Given the description of an element on the screen output the (x, y) to click on. 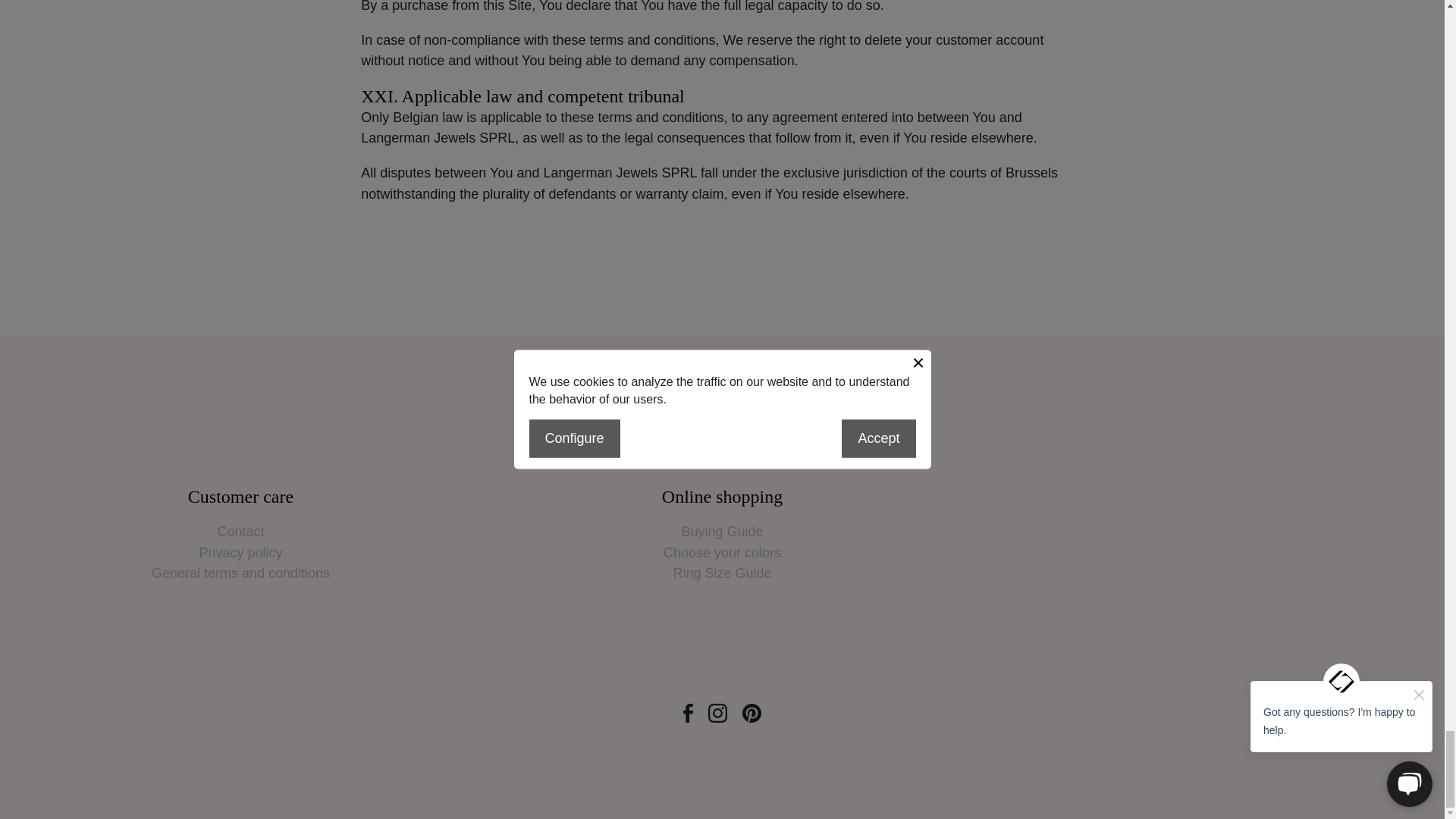
Choose your colors (721, 553)
Buying Guide (721, 531)
Form 0 (1203, 568)
General terms and conditions (240, 573)
Ring Size Guide (721, 573)
Contact (239, 531)
Instagram (716, 712)
Privacy policy (240, 553)
